Given the description of an element on the screen output the (x, y) to click on. 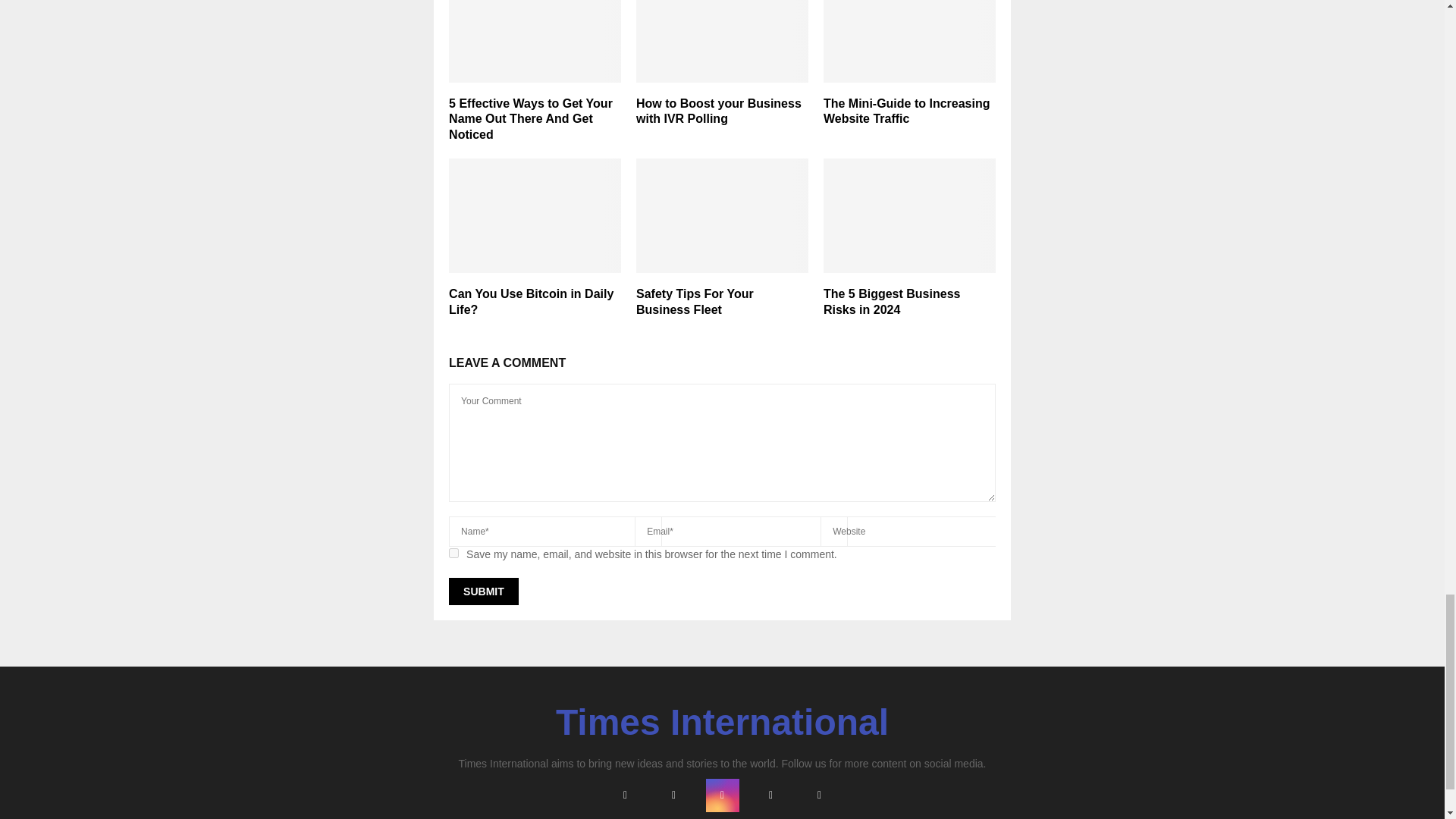
Submit (483, 591)
yes (453, 552)
